Given the description of an element on the screen output the (x, y) to click on. 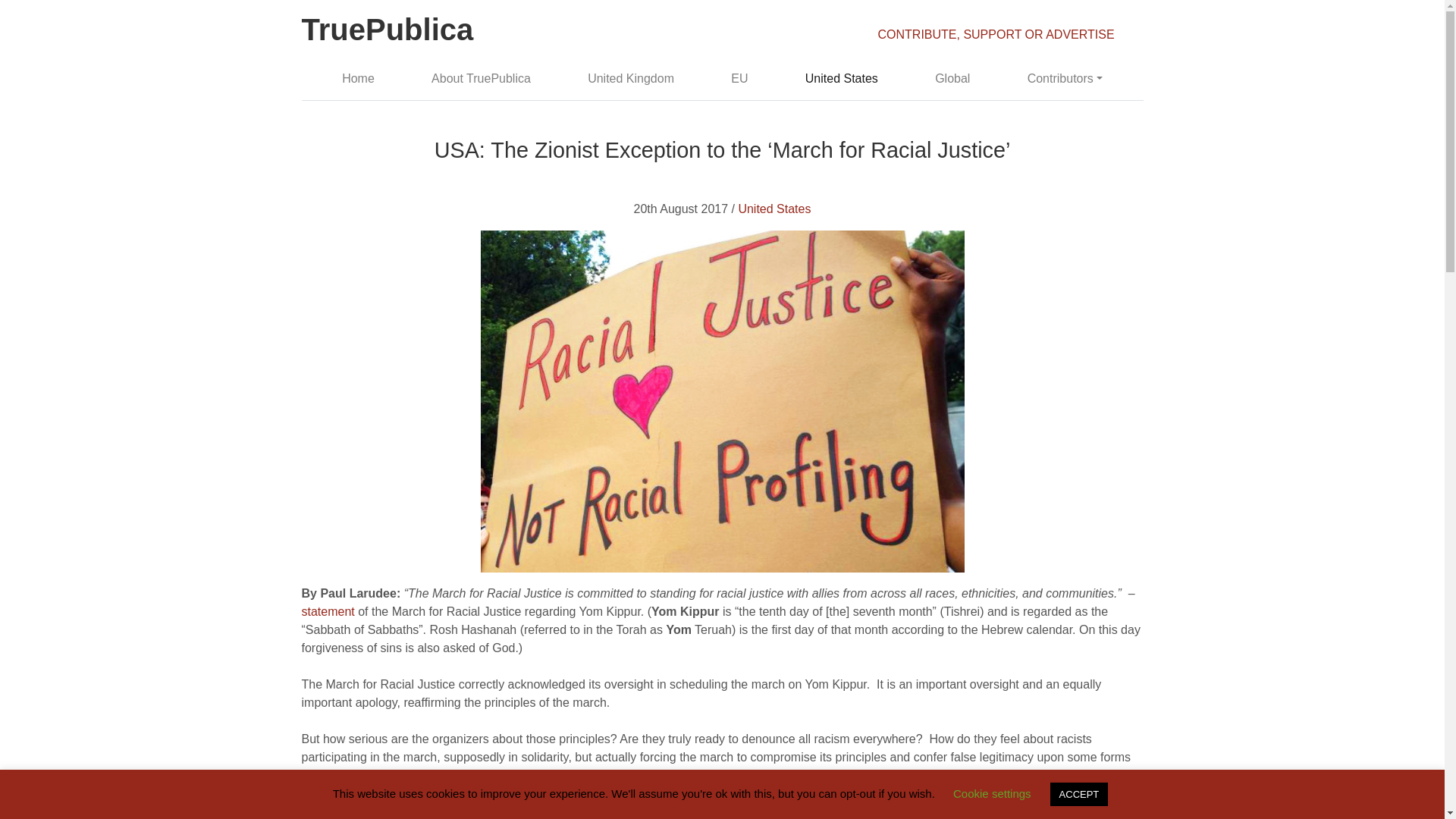
United States (840, 78)
United States (774, 208)
About TruePublica (481, 78)
TruePublica (387, 32)
statement (328, 611)
Global (951, 78)
CONTRIBUTE, SUPPORT OR ADVERTISE (996, 33)
United Kingdom (631, 78)
EU (740, 78)
Home (358, 78)
declared (439, 811)
Contributors (1064, 78)
